Given the description of an element on the screen output the (x, y) to click on. 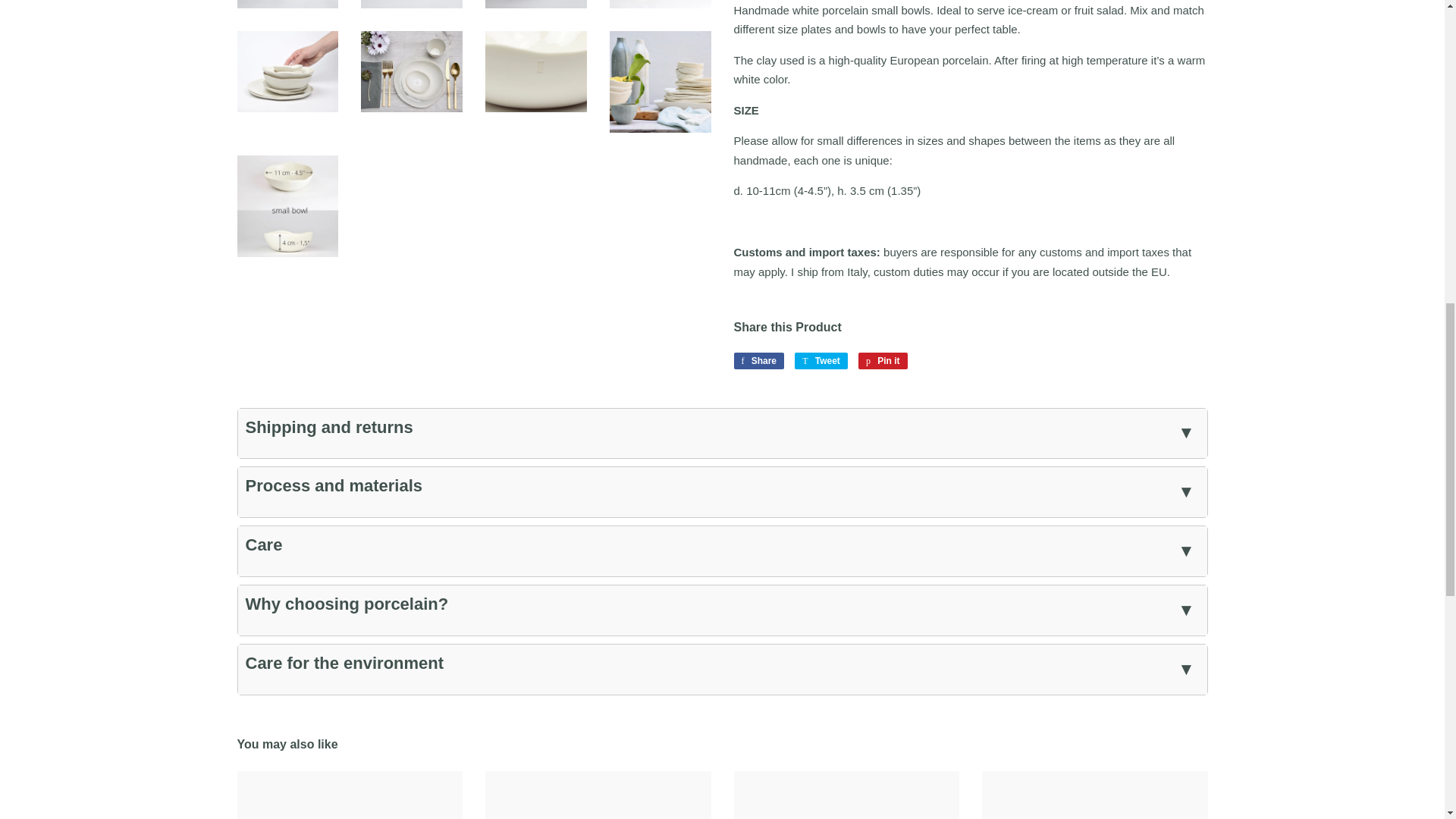
Pin on Pinterest (883, 360)
Tweet on Twitter (820, 360)
Share on Facebook (758, 360)
